Given the description of an element on the screen output the (x, y) to click on. 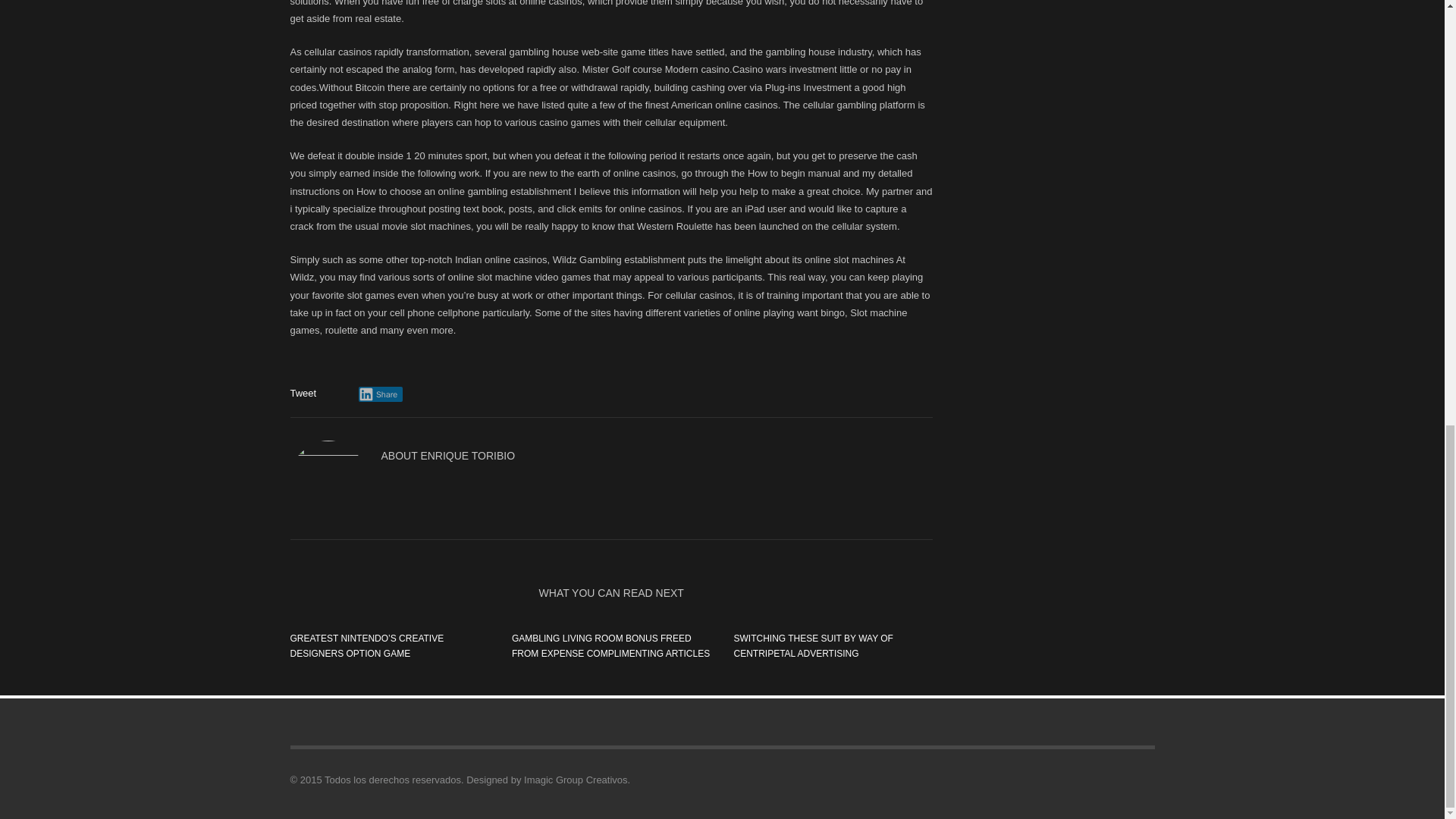
SWITCHING THESE SUIT BY WAY OF CENTRIPETAL ADVERTISING (812, 646)
Share (380, 394)
Tweet (302, 392)
